Given the description of an element on the screen output the (x, y) to click on. 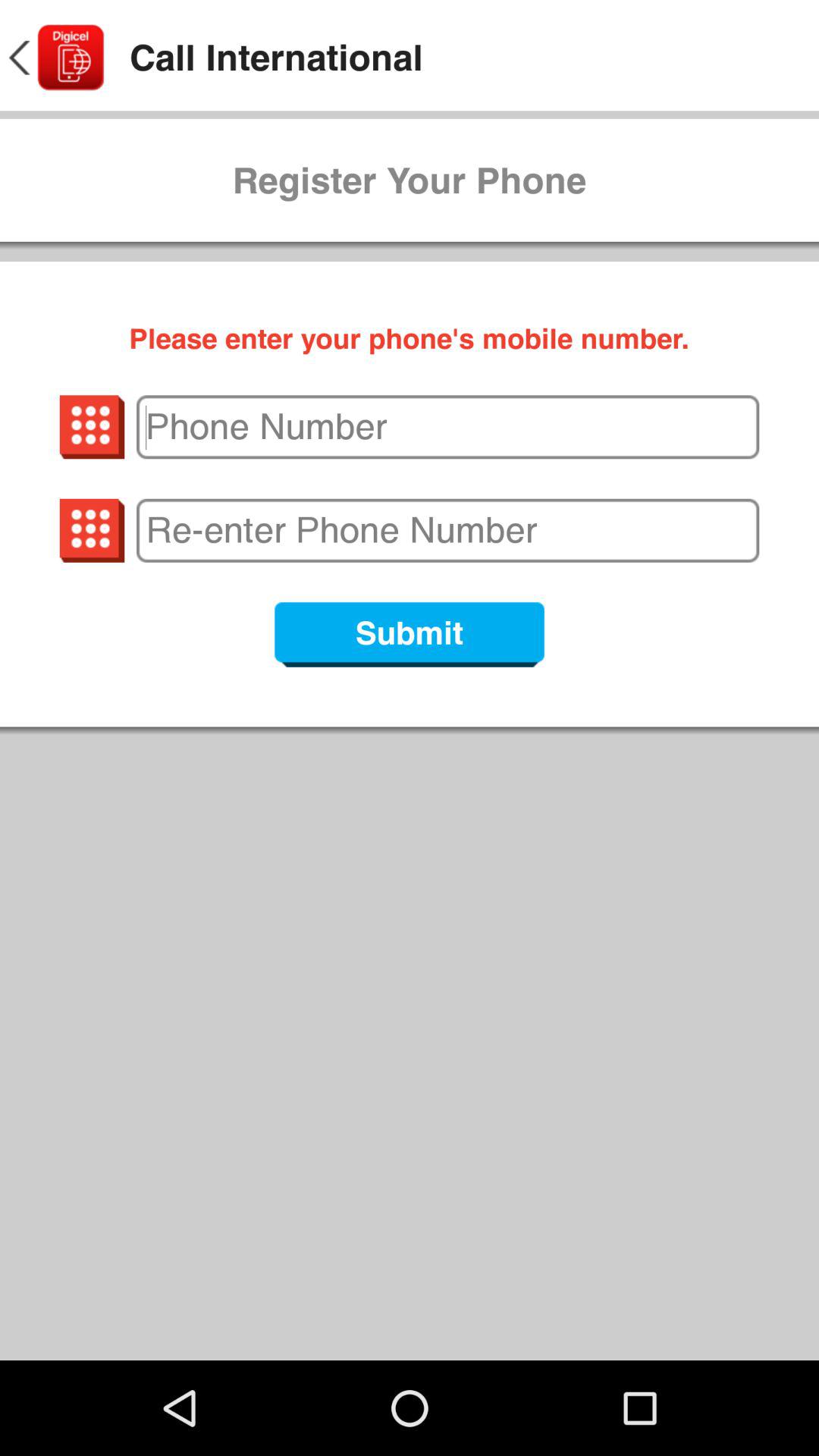
field to re-enter phone number (447, 530)
